Given the description of an element on the screen output the (x, y) to click on. 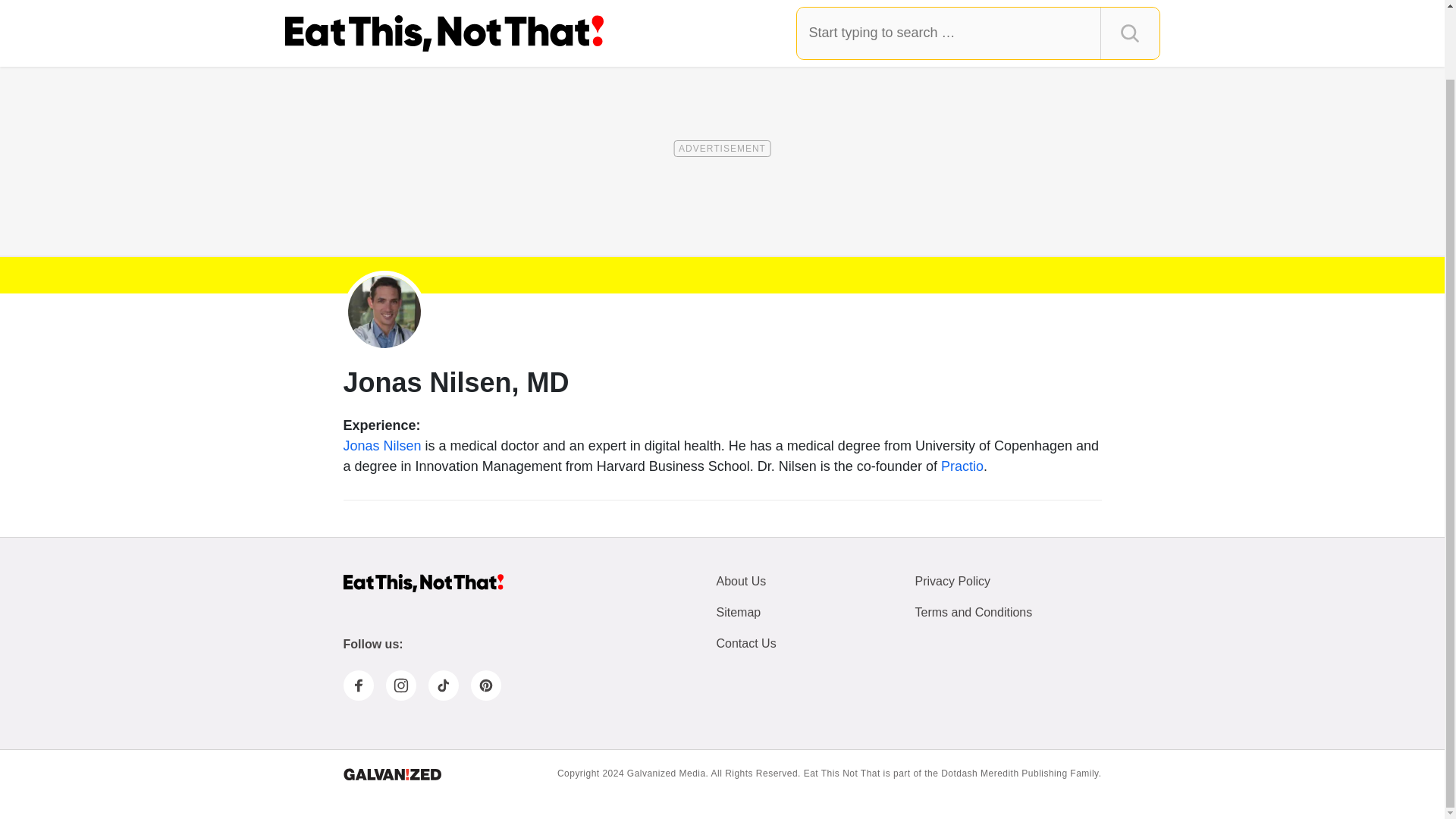
Pinterest (443, 211)
Facebook (314, 211)
Restaurants (814, 14)
Drinks (1003, 14)
Instagram (399, 685)
Jonas Nilsen (381, 445)
Pinterest (485, 685)
News (370, 14)
Instagram (357, 211)
TikTok (443, 685)
Groceries (590, 14)
About Us (740, 582)
Facebook (357, 685)
Homepage of Eat This Not That (422, 583)
TikTok (399, 211)
